Given the description of an element on the screen output the (x, y) to click on. 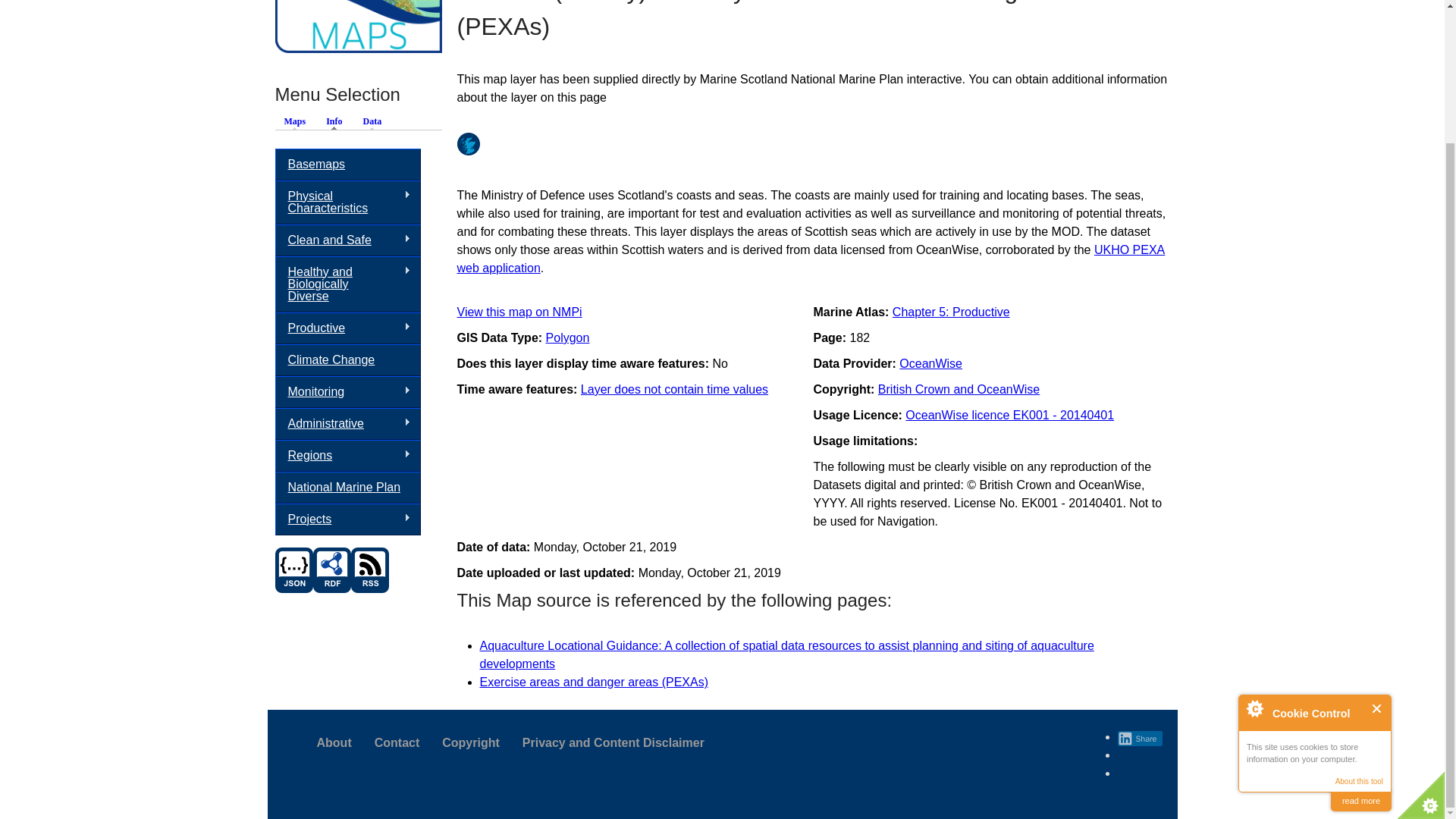
Layer does not contain time values (674, 389)
Close (1377, 546)
About Cookie Control (1254, 545)
UKHO PEXA web application (810, 258)
Polygon (567, 337)
read more (1360, 638)
Chapter 5: Productive (951, 311)
OceanWise licence EK001 - 20140401 (1009, 414)
Clean and Safe (347, 240)
About this tool (1359, 619)
About Cookie Control (1254, 545)
British Crown and OceanWise (958, 389)
View this map on NMPi (518, 311)
OceanWise (930, 363)
